Given the description of an element on the screen output the (x, y) to click on. 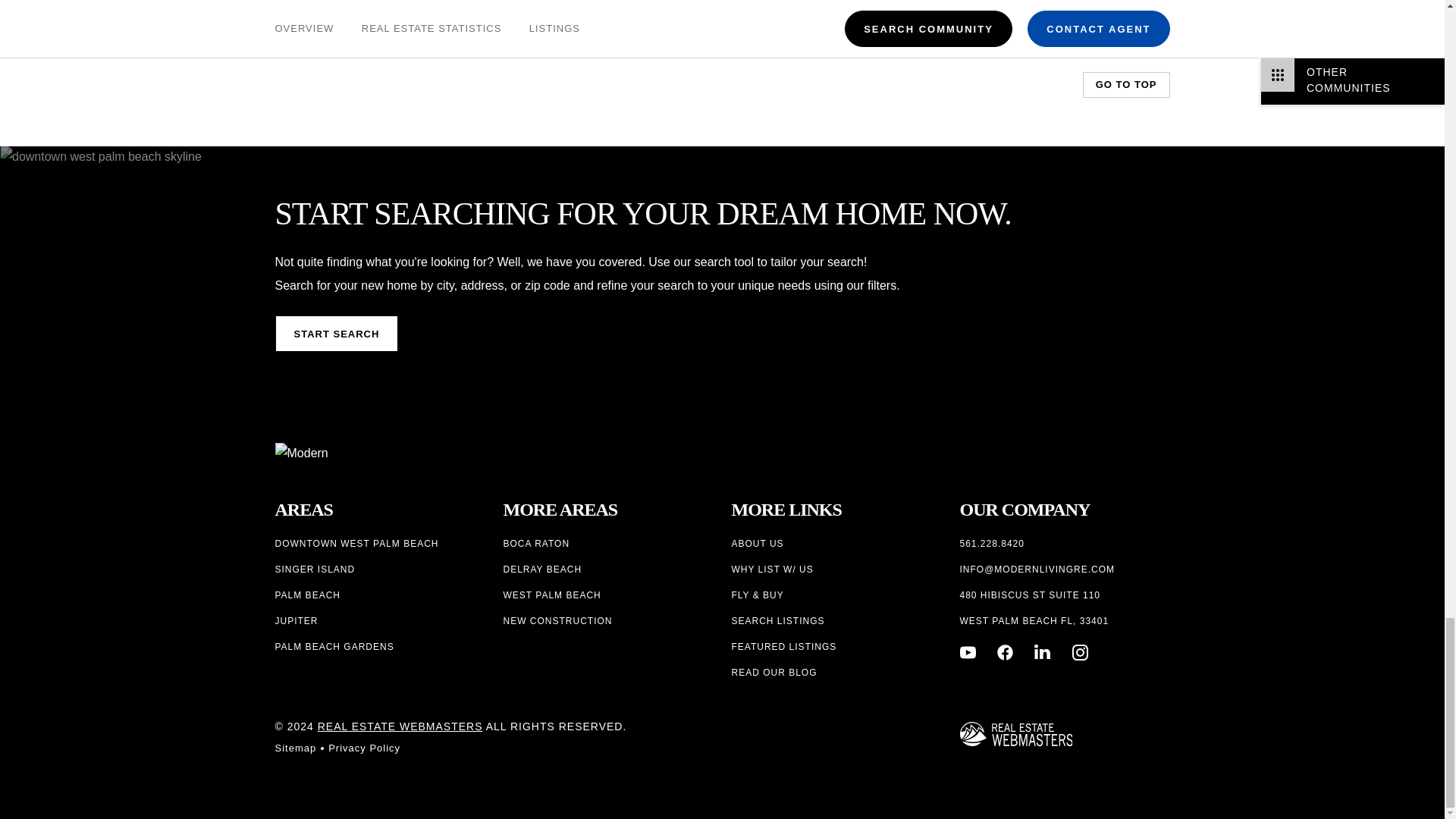
LINKEDIN (1041, 652)
YOUTUBE (967, 652)
FACEBOOK (1005, 652)
